Given the description of an element on the screen output the (x, y) to click on. 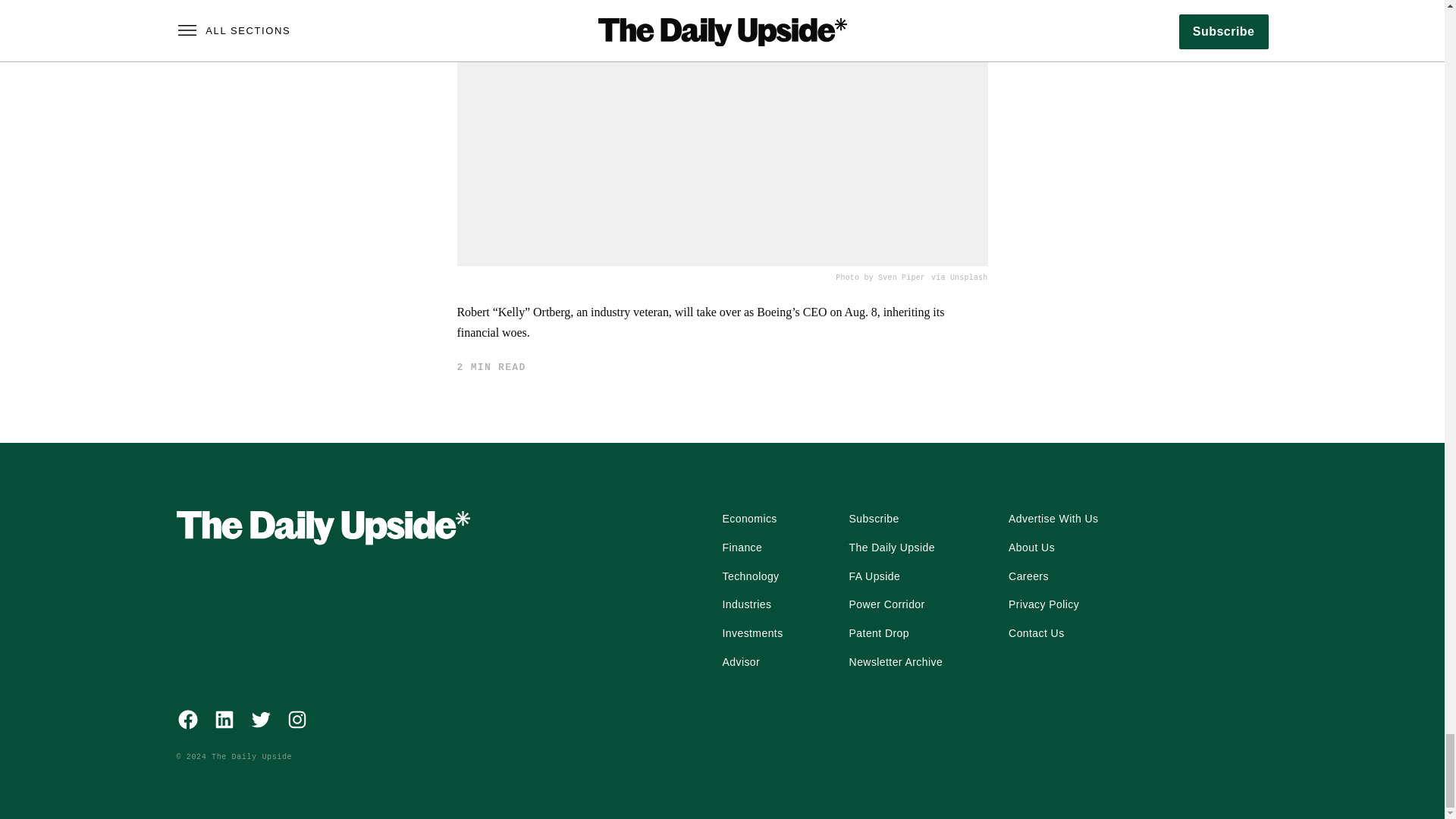
Advisor articles (741, 662)
Technology articles (750, 576)
Industry articles (746, 605)
Economics Articles (749, 519)
Finance Articles (741, 547)
Investment articles (752, 633)
